Given the description of an element on the screen output the (x, y) to click on. 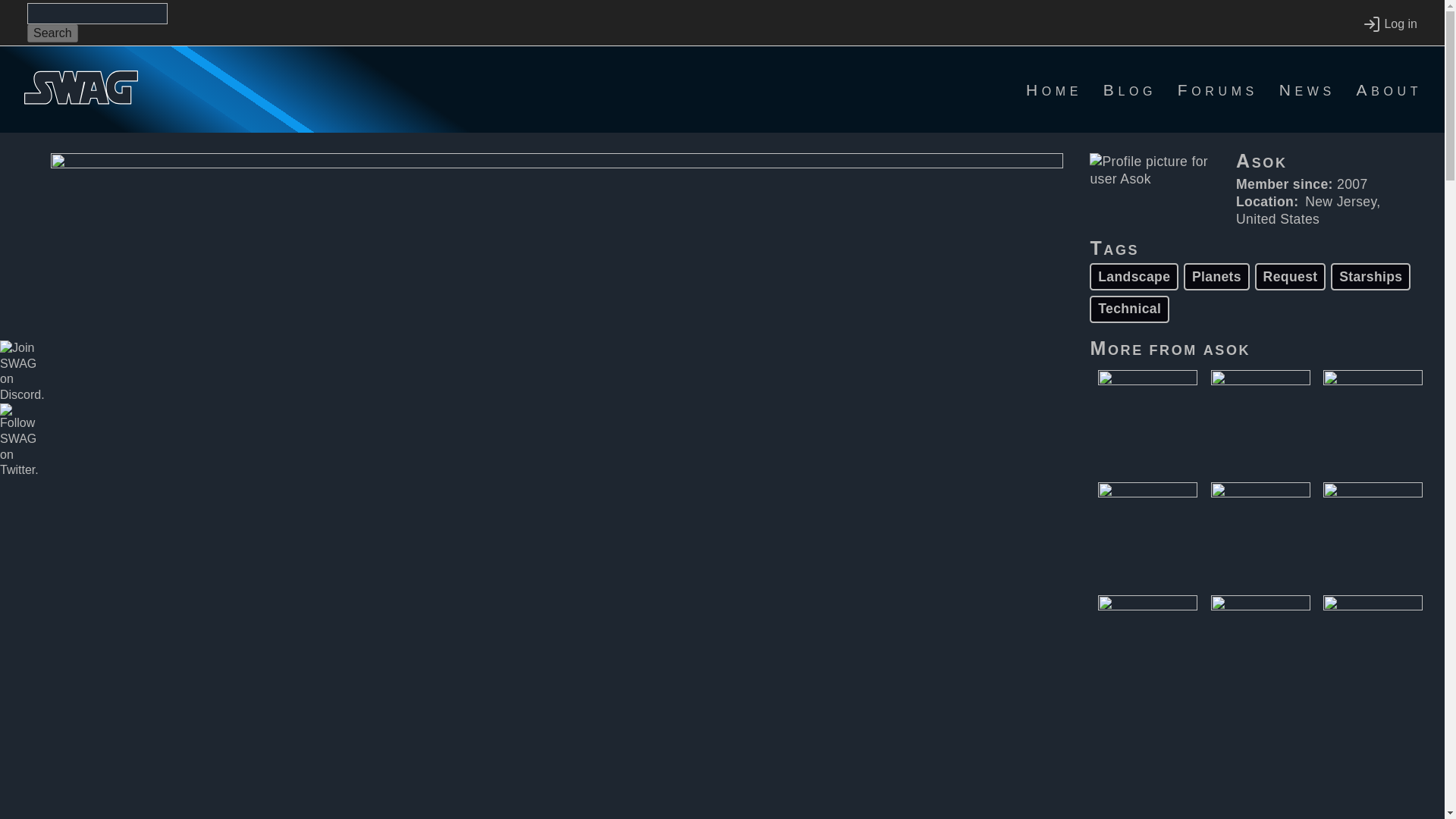
Forums (1217, 89)
Blog (1129, 89)
Search (52, 33)
Search (52, 33)
News (1307, 89)
View user profile. (1227, 347)
Log in (1389, 24)
About (1389, 89)
Enter the terms you wish to search for. (97, 13)
Home (1053, 89)
